Given the description of an element on the screen output the (x, y) to click on. 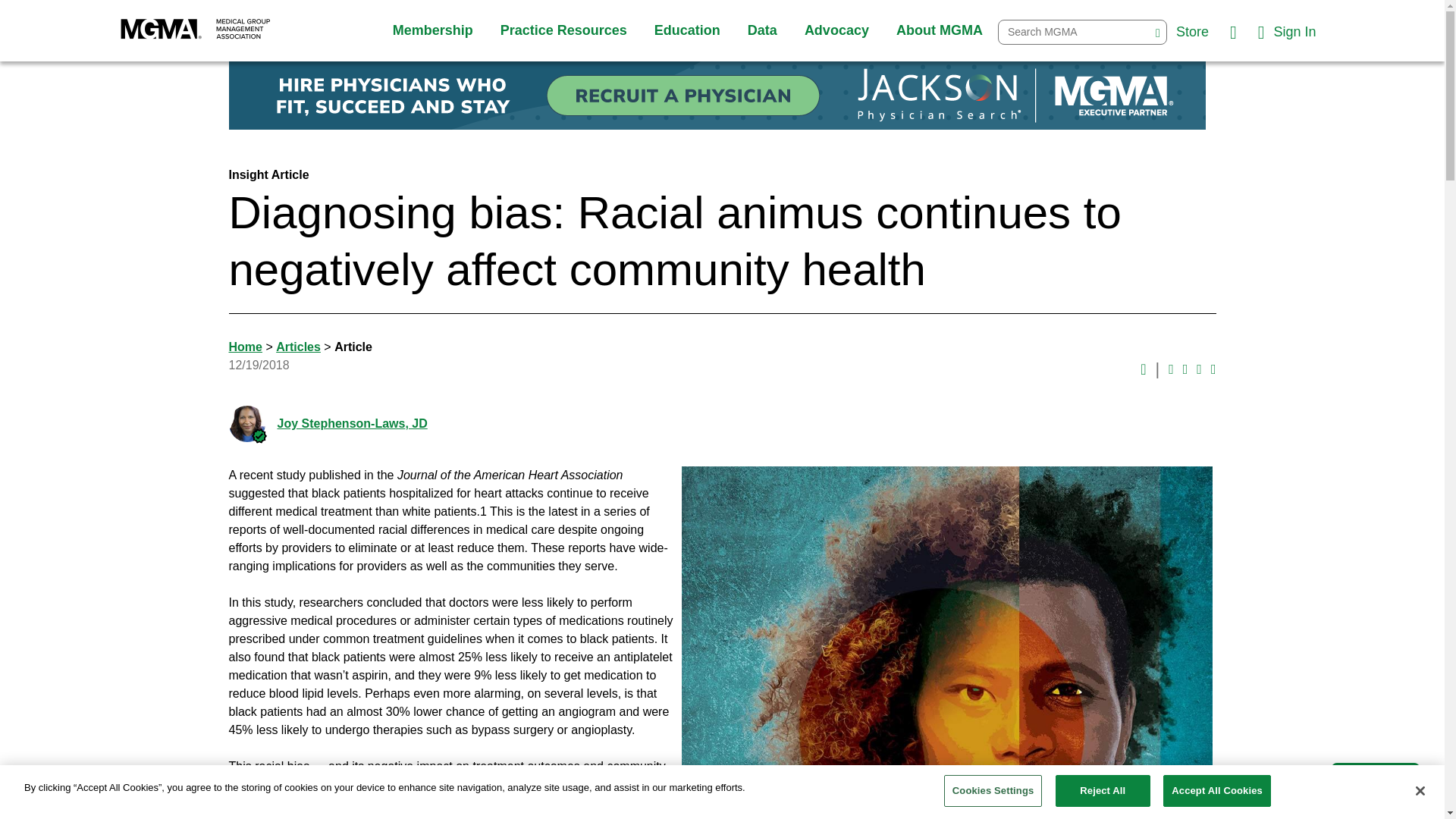
Membership (433, 30)
Practice Resources (563, 30)
